Given the description of an element on the screen output the (x, y) to click on. 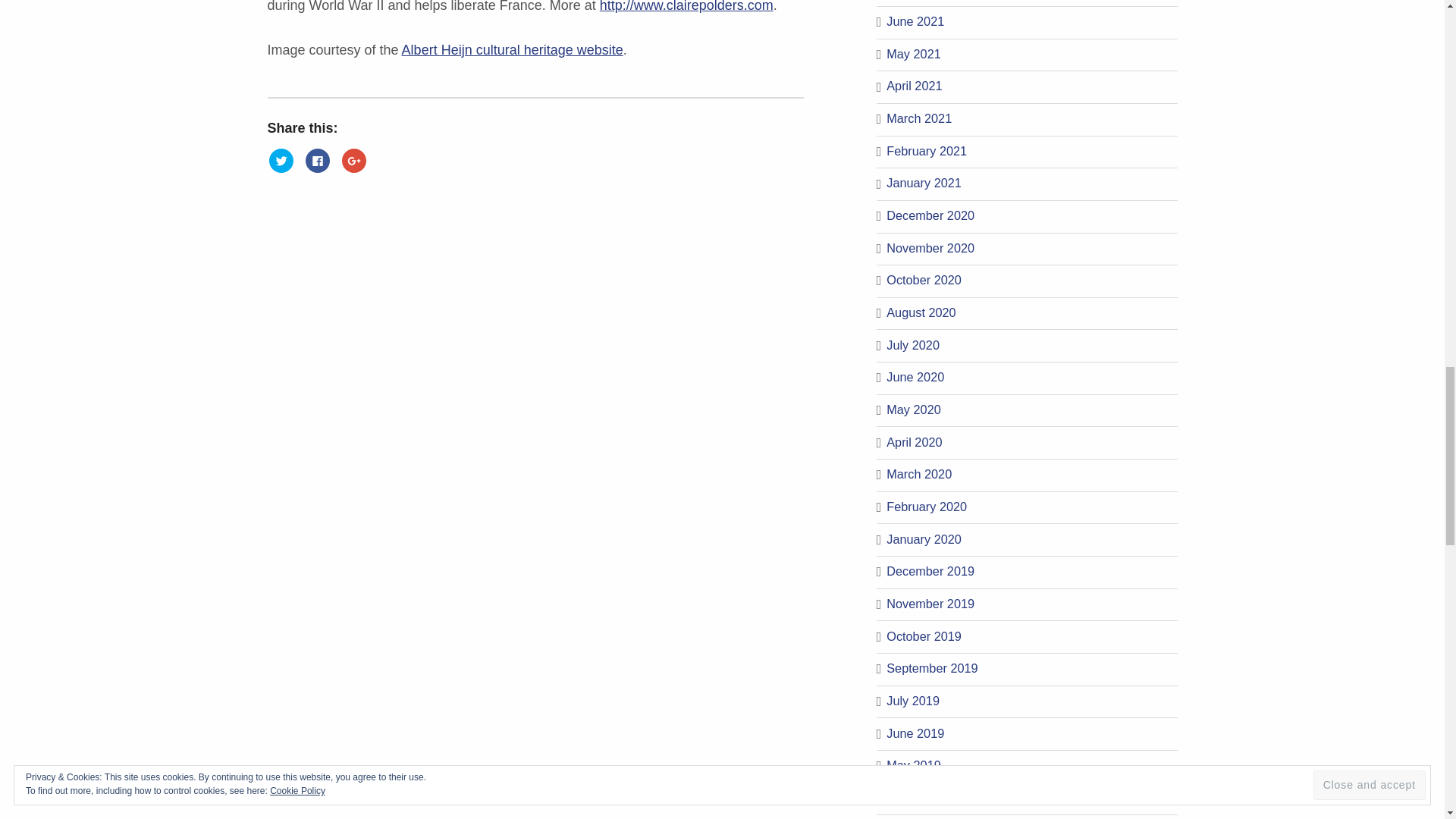
Click to share on Facebook (317, 160)
Albert Heijn cultural heritage website (512, 49)
Click to share on Twitter (280, 160)
